Given the description of an element on the screen output the (x, y) to click on. 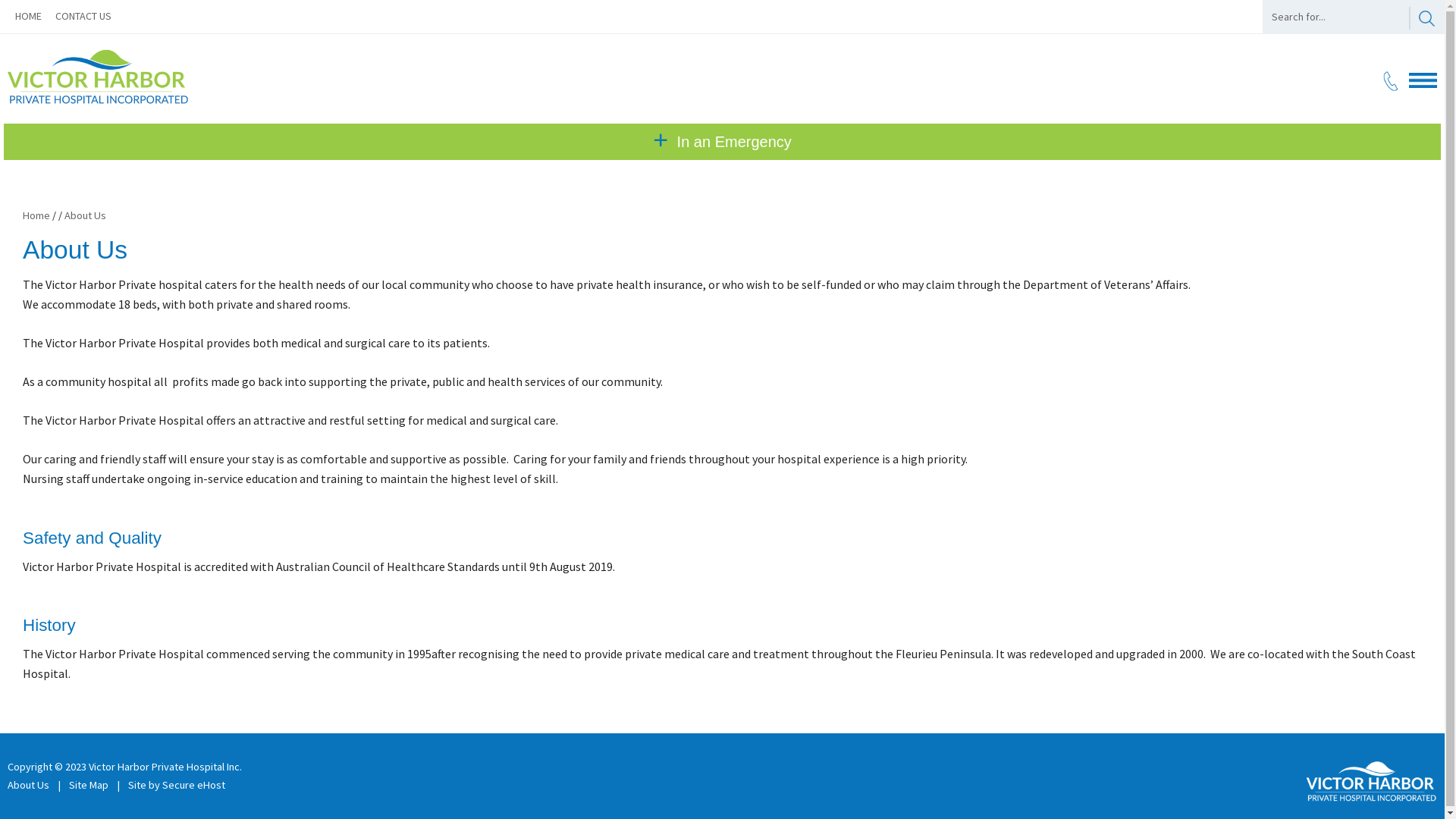
Site by Secure eHost Element type: text (176, 784)
Victor Harbor Private Hospital Incorporated Element type: hover (98, 100)
+ In an Emergency Element type: text (721, 141)
HOME Element type: text (34, 15)
About Us Element type: text (28, 784)
Site Map Element type: text (88, 784)
CONTACT US Element type: text (88, 15)
Home Element type: text (36, 215)
Call Us : 08 8552 0500 Element type: hover (1391, 86)
About Us Element type: text (85, 215)
Search Site Element type: hover (1421, 17)
